Given the description of an element on the screen output the (x, y) to click on. 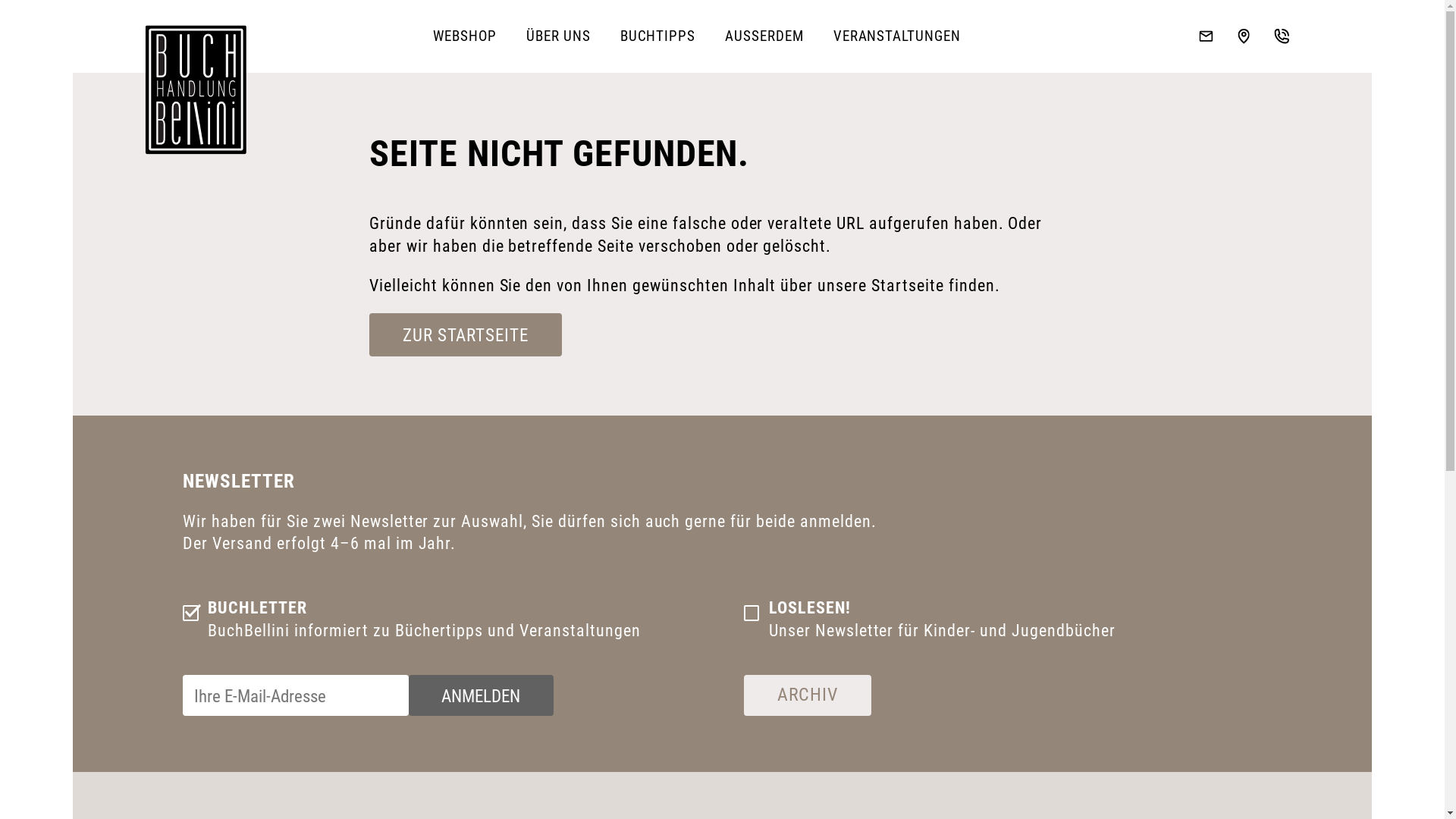
ANMELDEN Element type: text (480, 694)
AUSSERDEM Element type: text (764, 36)
BUCHTIPPS Element type: text (657, 36)
ARCHIV Element type: text (807, 694)
Email: mail@buchbellini.ch Element type: text (1205, 36)
VERANSTALTUNGEN Element type: text (896, 36)
WEBSHOP Element type: text (464, 36)
Google Maps Element type: text (1243, 36)
Telefon: +41 44 796 10 80 Element type: text (1281, 36)
ZUR STARTSEITE Element type: text (465, 334)
Logo Homelink Element type: text (195, 89)
